Given the description of an element on the screen output the (x, y) to click on. 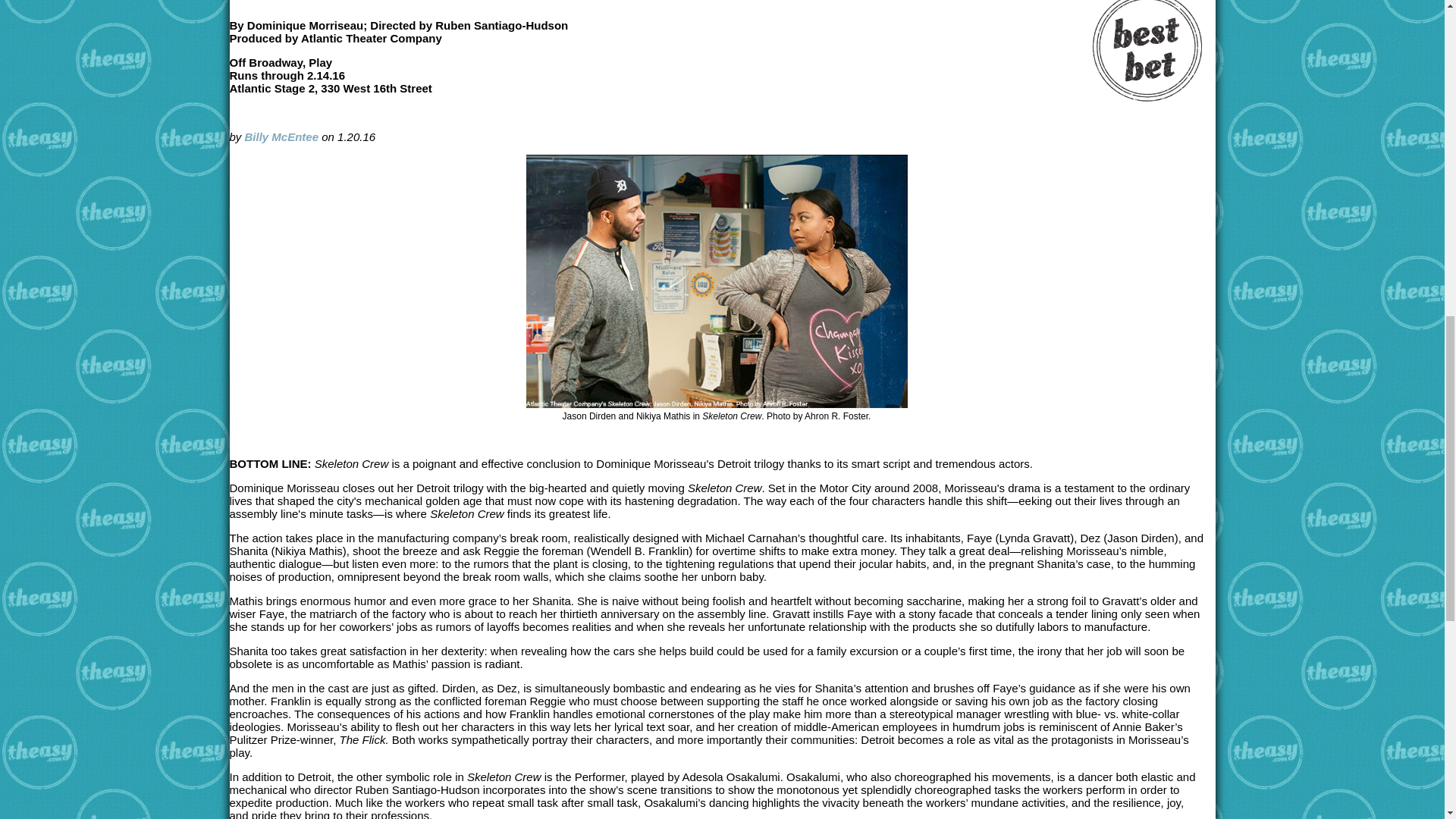
Billy McEntee (281, 136)
